Given the description of an element on the screen output the (x, y) to click on. 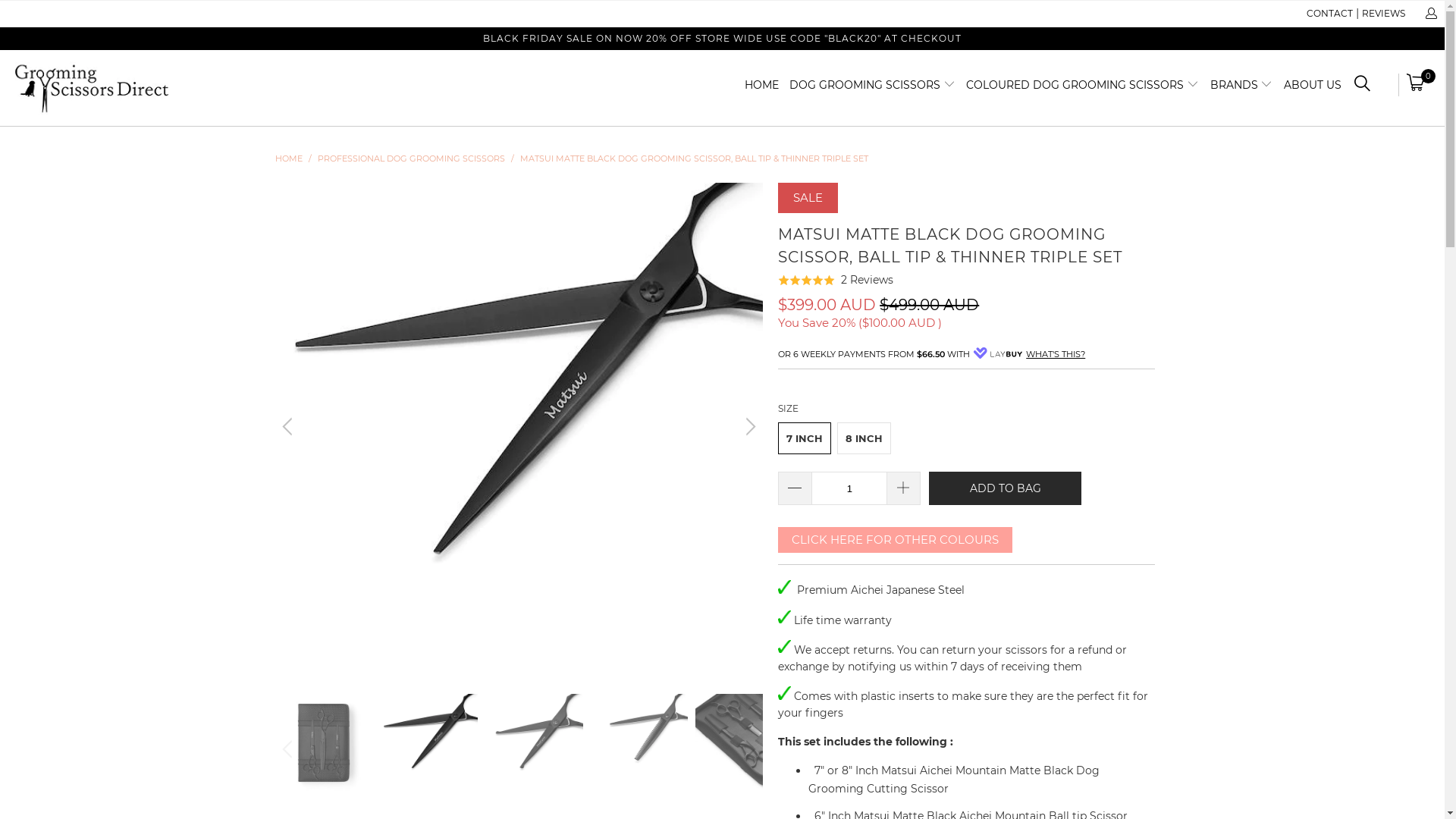
DOG GROOMING SCISSORS Element type: text (872, 84)
CLICK HERE FOR OTHER COLOURS Element type: text (895, 539)
BRANDS Element type: text (1241, 84)
COLOURED DOG GROOMING SCISSORS Element type: text (1082, 84)
WHAT'S THIS? Element type: text (1055, 353)
REVIEWS Element type: text (1383, 13)
ADD TO BAG Element type: text (1004, 488)
Grooming Scissors Direct Element type: hover (123, 87)
HOME Element type: text (761, 84)
CONTACT Element type: text (1329, 13)
PROFESSIONAL DOG GROOMING SCISSORS Element type: text (410, 158)
My Account  Element type: hover (1430, 13)
Search Me Now! Element type: hover (1362, 85)
ABOUT US Element type: text (1312, 84)
0 Element type: text (1415, 84)
HOME Element type: text (287, 158)
